Given the description of an element on the screen output the (x, y) to click on. 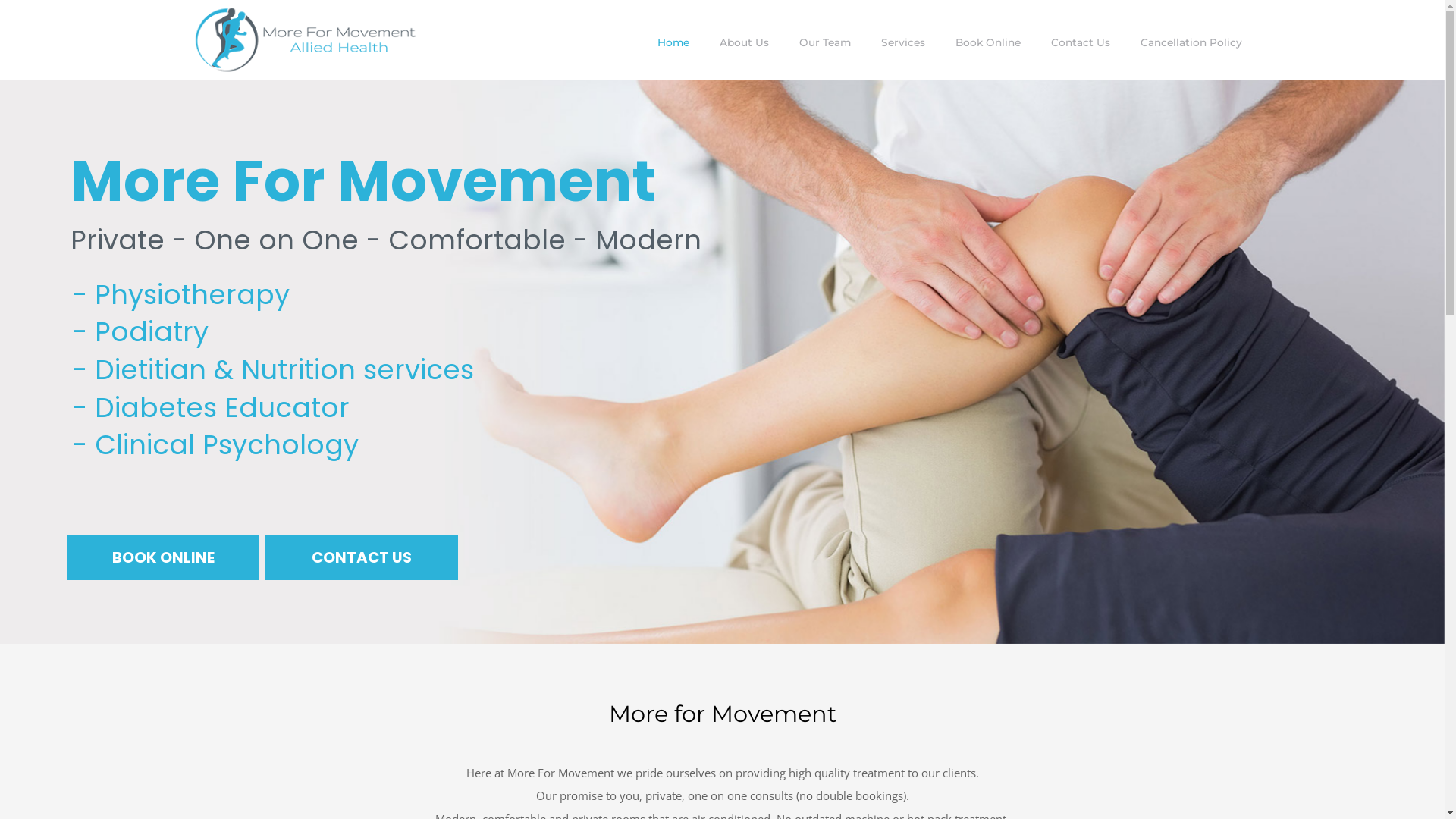
Home Element type: text (672, 42)
Our Team Element type: text (824, 42)
About Us Element type: text (743, 42)
About Us Element type: text (743, 42)
Contact Us Element type: text (1080, 42)
Our Team Element type: text (824, 42)
Home Element type: text (672, 42)
Services Element type: text (903, 42)
Book Online Element type: text (987, 42)
Contact Us Element type: text (1080, 42)
Cancellation Policy Element type: text (1191, 42)
Cancellation Policy Element type: text (1191, 42)
Services Element type: text (903, 42)
Book Online Element type: text (987, 42)
